Given the description of an element on the screen output the (x, y) to click on. 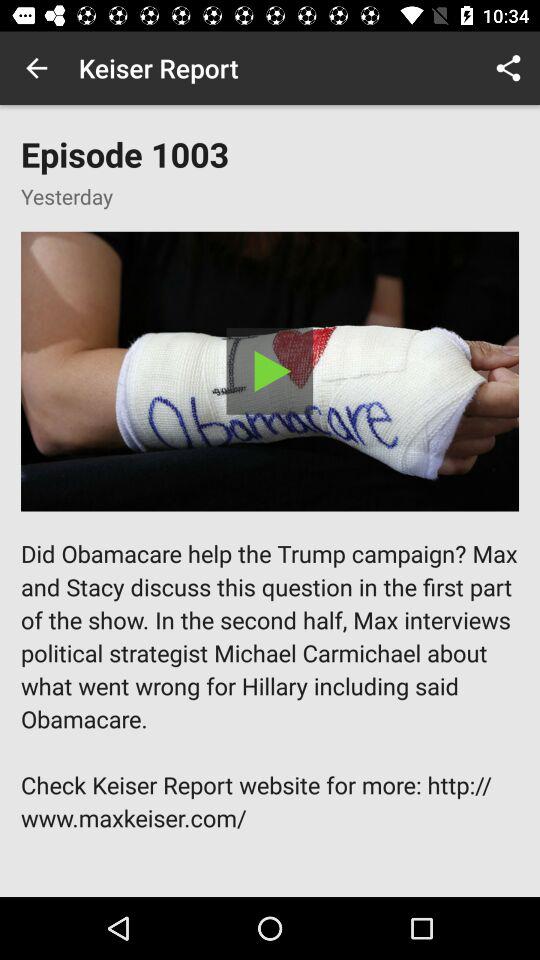
turn on app to the left of keiser report item (36, 68)
